Given the description of an element on the screen output the (x, y) to click on. 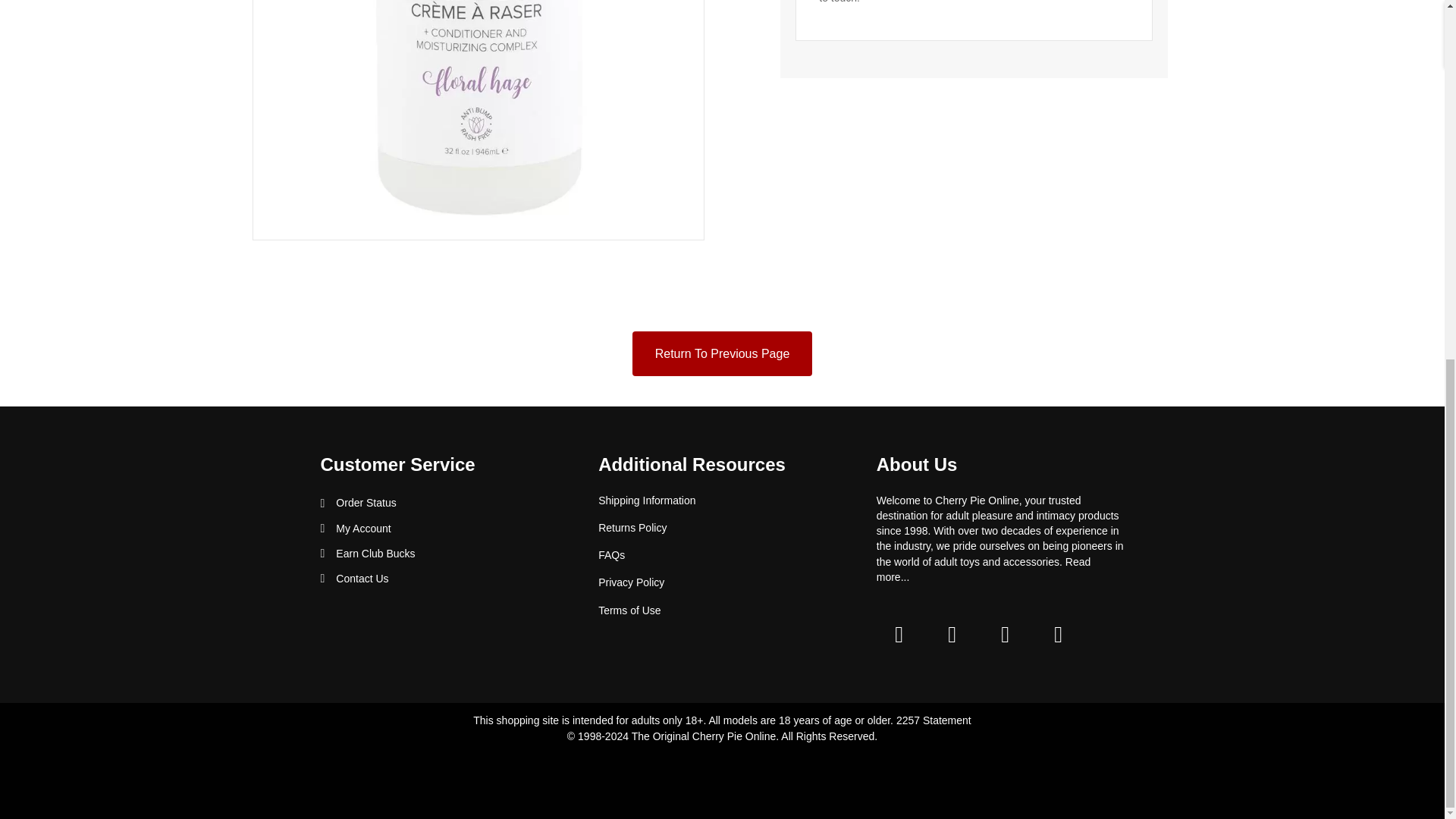
Coochy Shave Cream 32oz - Floral Haze (477, 120)
My Account (363, 528)
Twitter (952, 634)
Return To Previous Page (721, 353)
Email (1058, 634)
Order Status (366, 502)
Facebook (898, 634)
Earn Club Bucks (375, 553)
Instagram (1004, 634)
Shipping Information (646, 500)
Contact Us (362, 578)
